Given the description of an element on the screen output the (x, y) to click on. 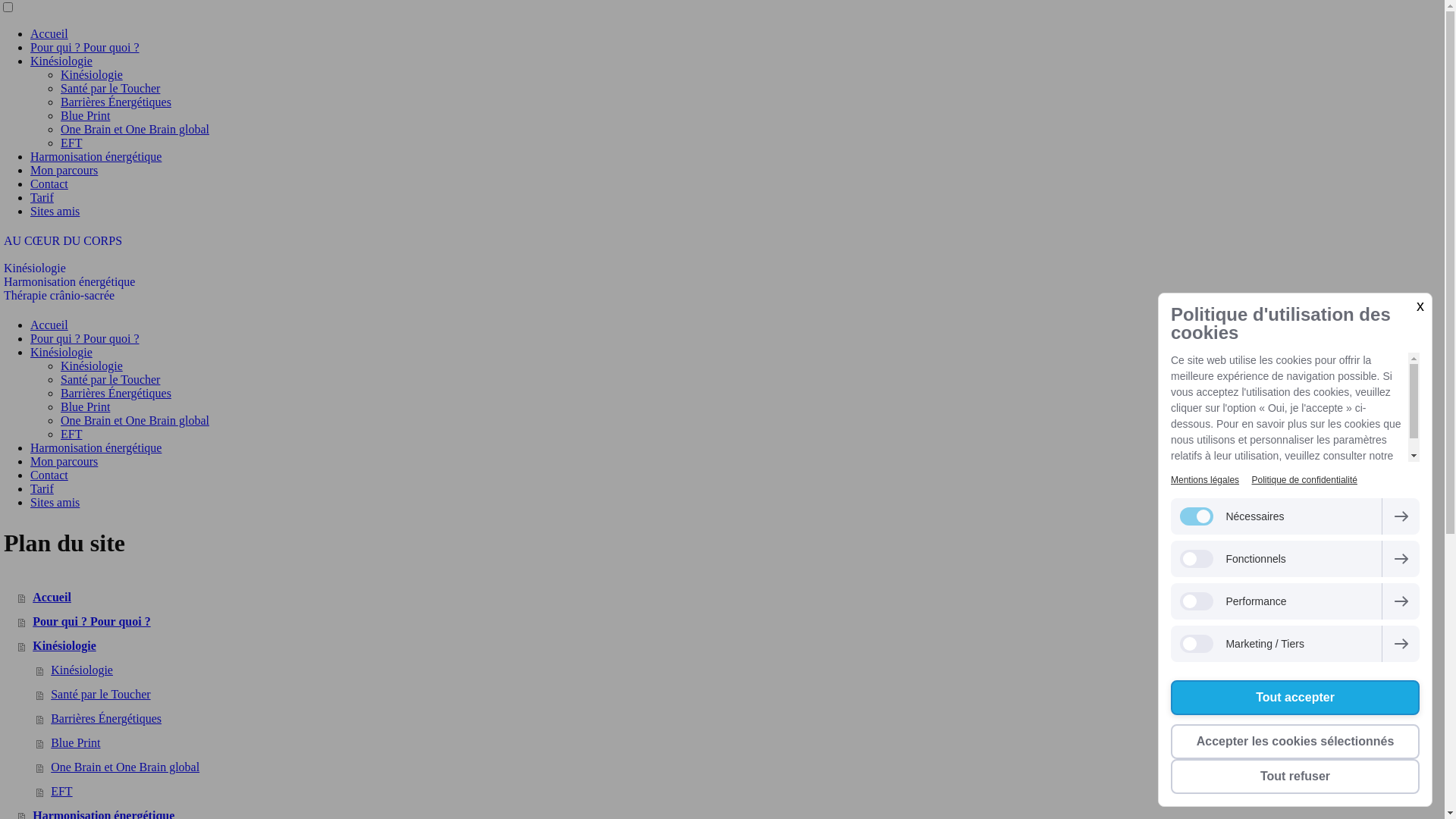
Contact Element type: text (49, 183)
Tout accepter Element type: text (1294, 697)
One Brain et One Brain global Element type: text (134, 420)
Blue Print Element type: text (84, 406)
Mon parcours Element type: text (63, 169)
Pour qui ? Pour quoi ? Element type: text (84, 338)
Pour qui ? Pour quoi ? Element type: text (731, 621)
Mon parcours Element type: text (63, 461)
One Brain et One Brain global Element type: text (134, 128)
EFT Element type: text (740, 791)
Tarif Element type: text (41, 197)
Sites amis Element type: text (54, 501)
EFT Element type: text (70, 142)
Tarif Element type: text (41, 488)
Tout refuser Element type: text (1294, 776)
Blue Print Element type: text (740, 743)
EFT Element type: text (70, 433)
Blue Print Element type: text (84, 115)
Contact Element type: text (49, 474)
Accueil Element type: text (49, 33)
One Brain et One Brain global Element type: text (740, 767)
Pour qui ? Pour quoi ? Element type: text (84, 46)
Accueil Element type: text (49, 324)
Sites amis Element type: text (54, 210)
Accueil Element type: text (731, 597)
